Given the description of an element on the screen output the (x, y) to click on. 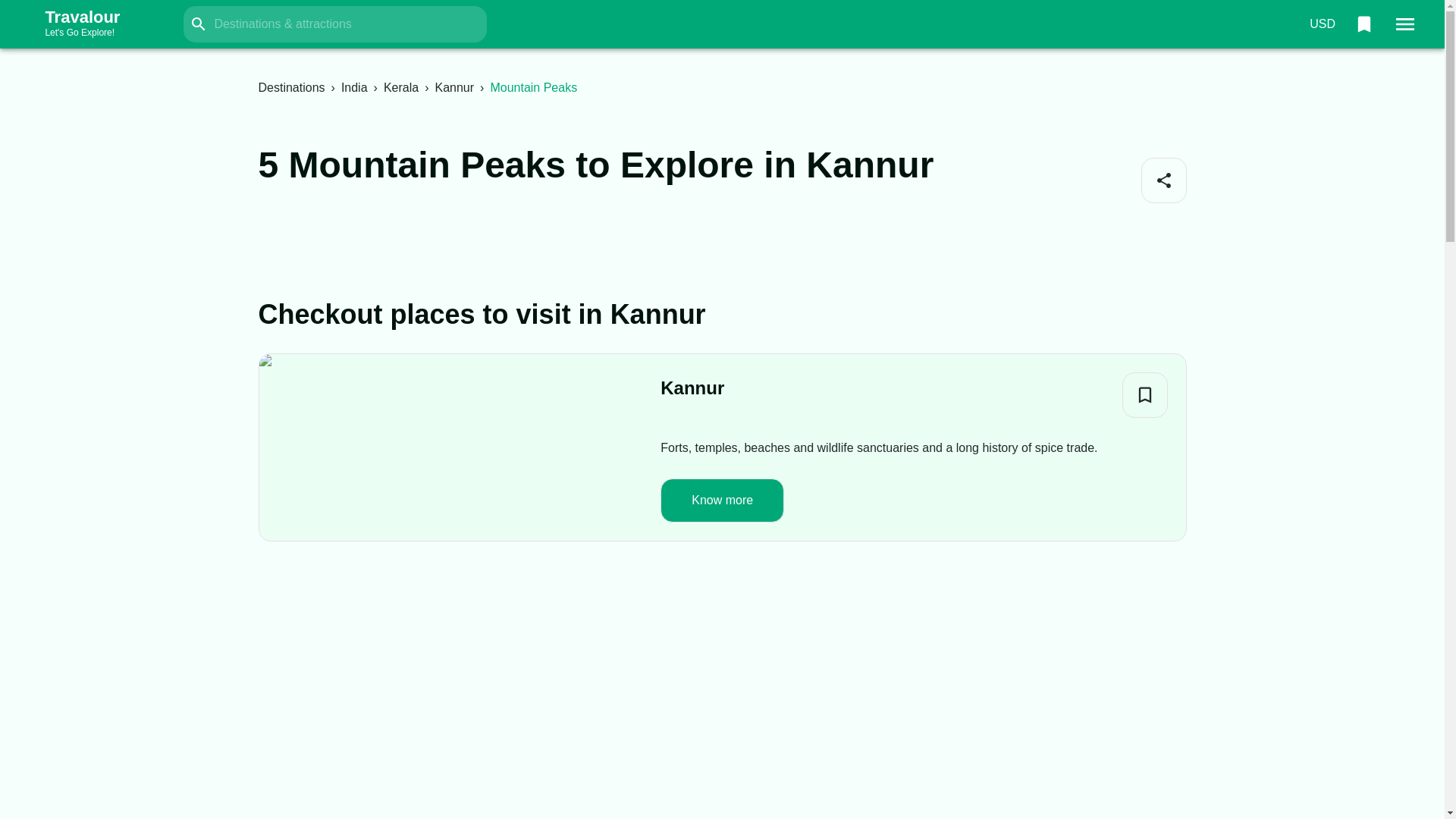
0 (1363, 24)
Know more (722, 499)
Destinations (290, 87)
Share (97, 23)
Add to Bucket List (1163, 180)
USD (1144, 394)
Kannur (1321, 23)
India (453, 87)
Kerala (354, 87)
